Given the description of an element on the screen output the (x, y) to click on. 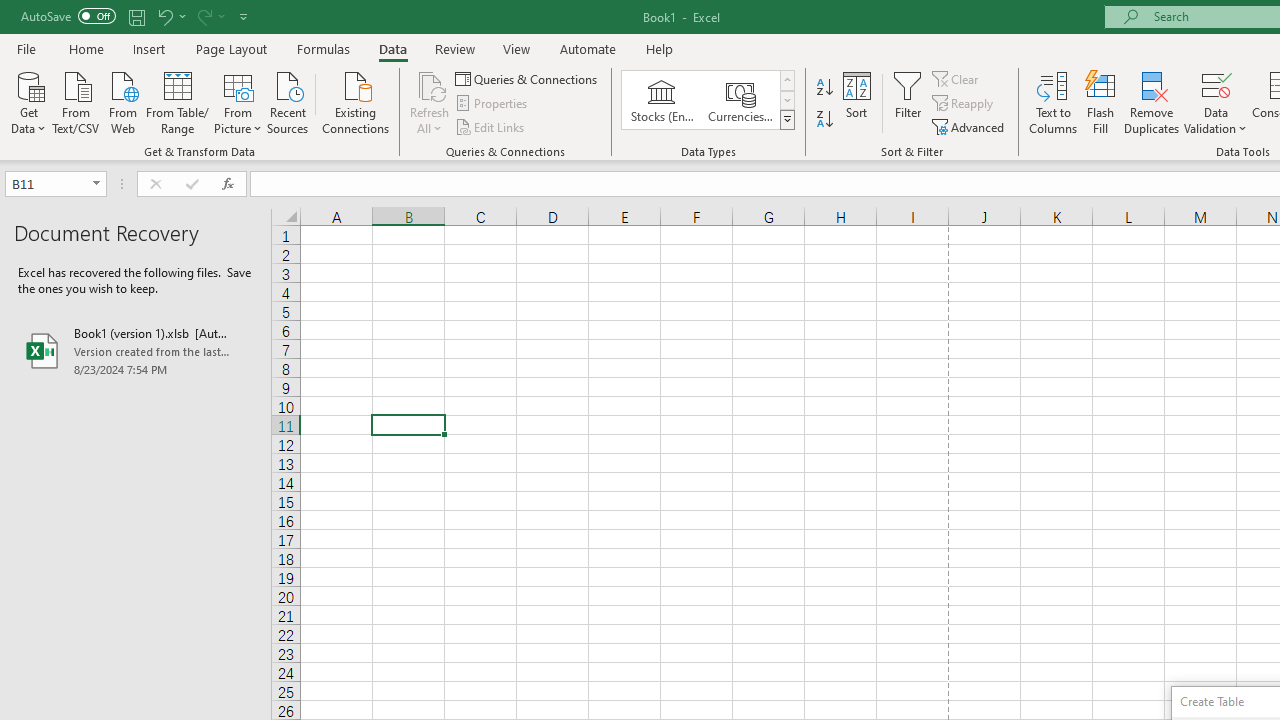
Sort... (856, 102)
Advanced... (970, 126)
